Given the description of an element on the screen output the (x, y) to click on. 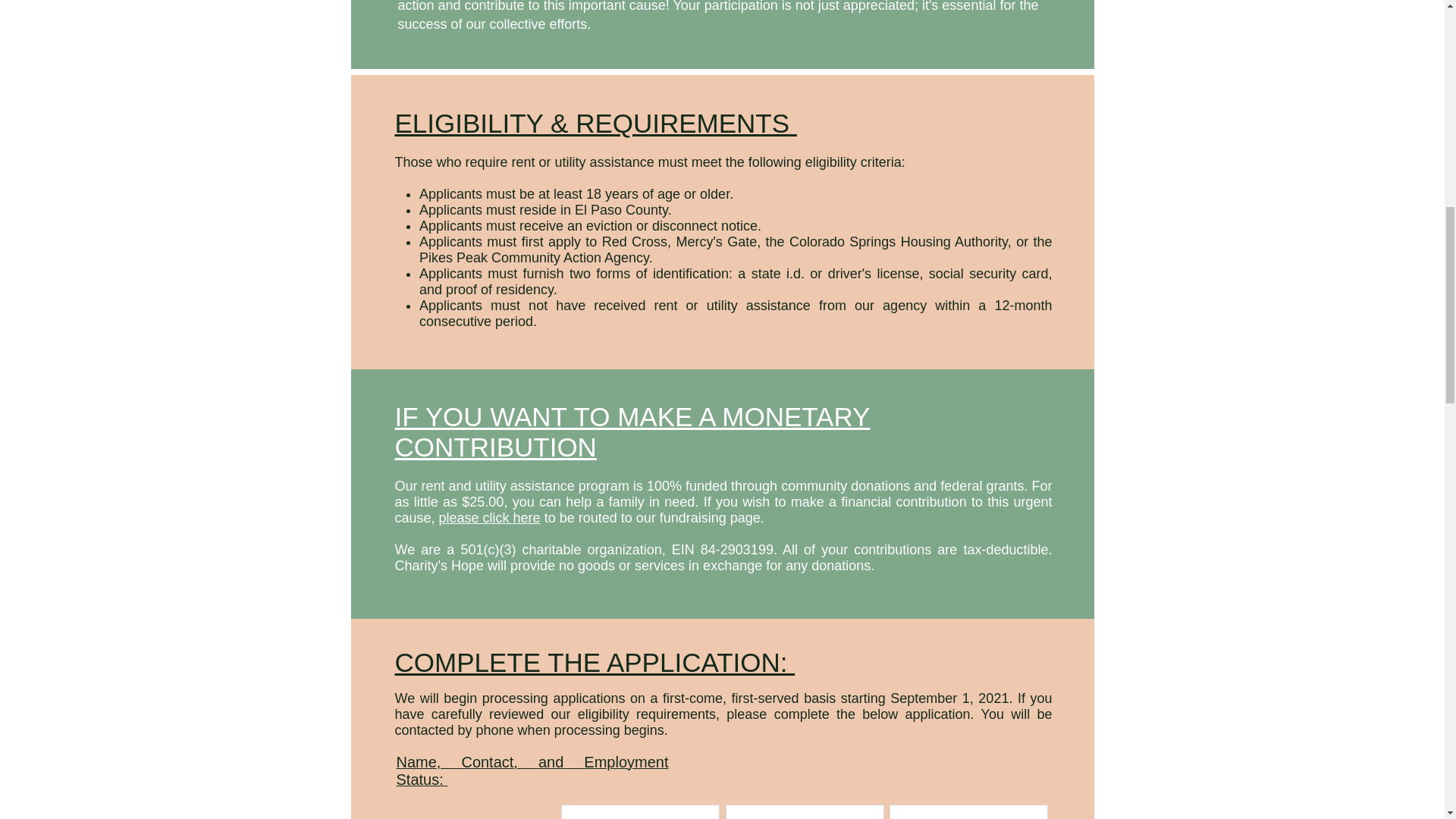
please click here (489, 517)
